Given the description of an element on the screen output the (x, y) to click on. 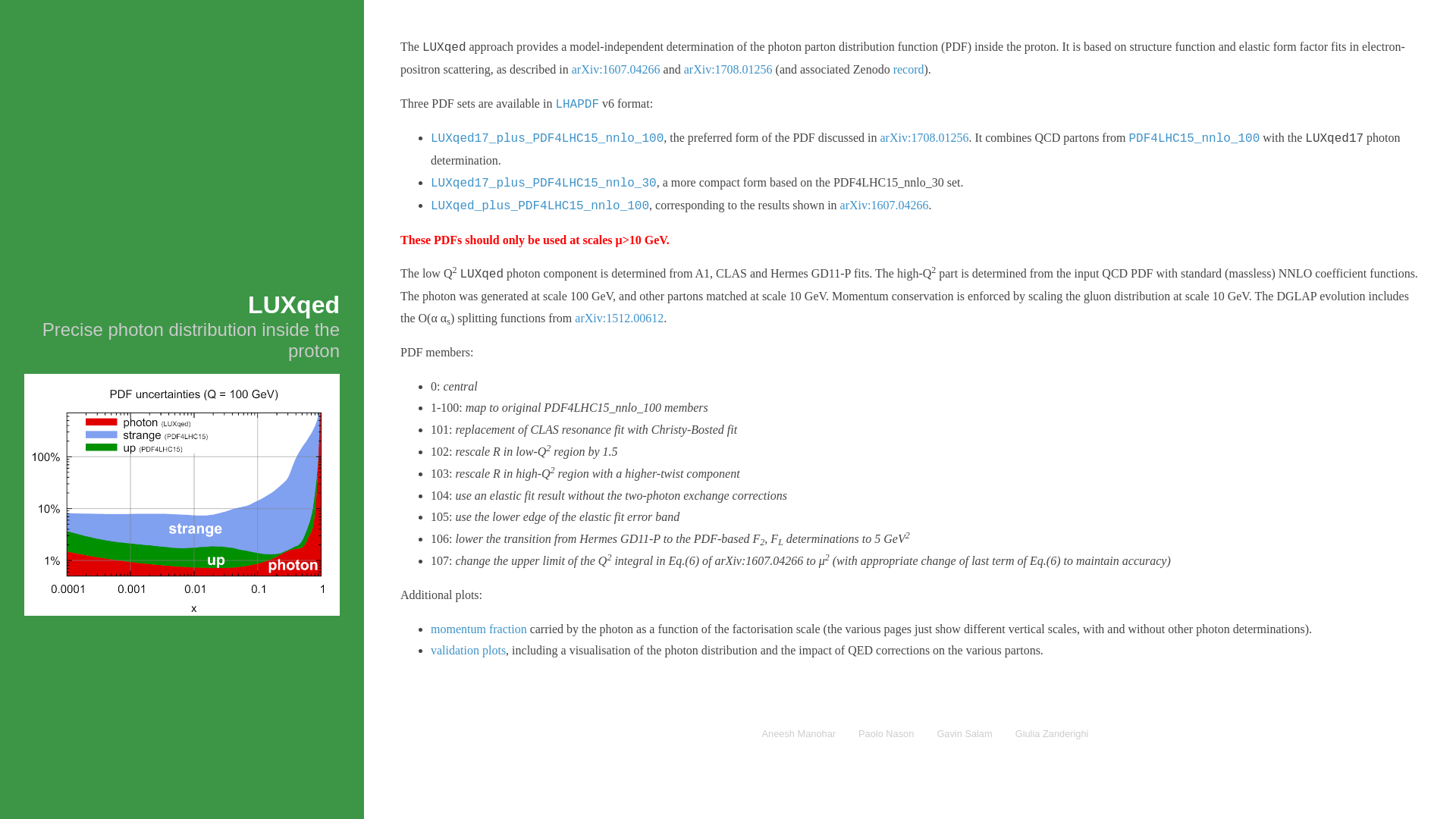
LUXqed17_plus_PDF4LHC15_nnlo_100 Element type: text (546, 138)
LUXqed_plus_PDF4LHC15_nnlo_100 Element type: text (539, 206)
arXiv:1607.04266 Element type: text (615, 68)
Aneesh Manohar Element type: text (798, 732)
momentum fraction Element type: text (478, 628)
Paolo Nason Element type: text (885, 732)
Giulia Zanderighi Element type: text (1051, 732)
Gavin Salam Element type: text (964, 732)
validation plots Element type: text (467, 649)
record Element type: text (908, 68)
LUXqed17_plus_PDF4LHC15_nnlo_30 Element type: text (543, 183)
LHAPDF Element type: text (577, 103)
arXiv:1607.04266 Element type: text (884, 204)
arXiv:1708.01256 Element type: text (924, 137)
arXiv:1512.00612 Element type: text (618, 317)
arXiv:1708.01256 Element type: text (728, 68)
PDF4LHC15_nnlo_100 Element type: text (1193, 138)
